Given the description of an element on the screen output the (x, y) to click on. 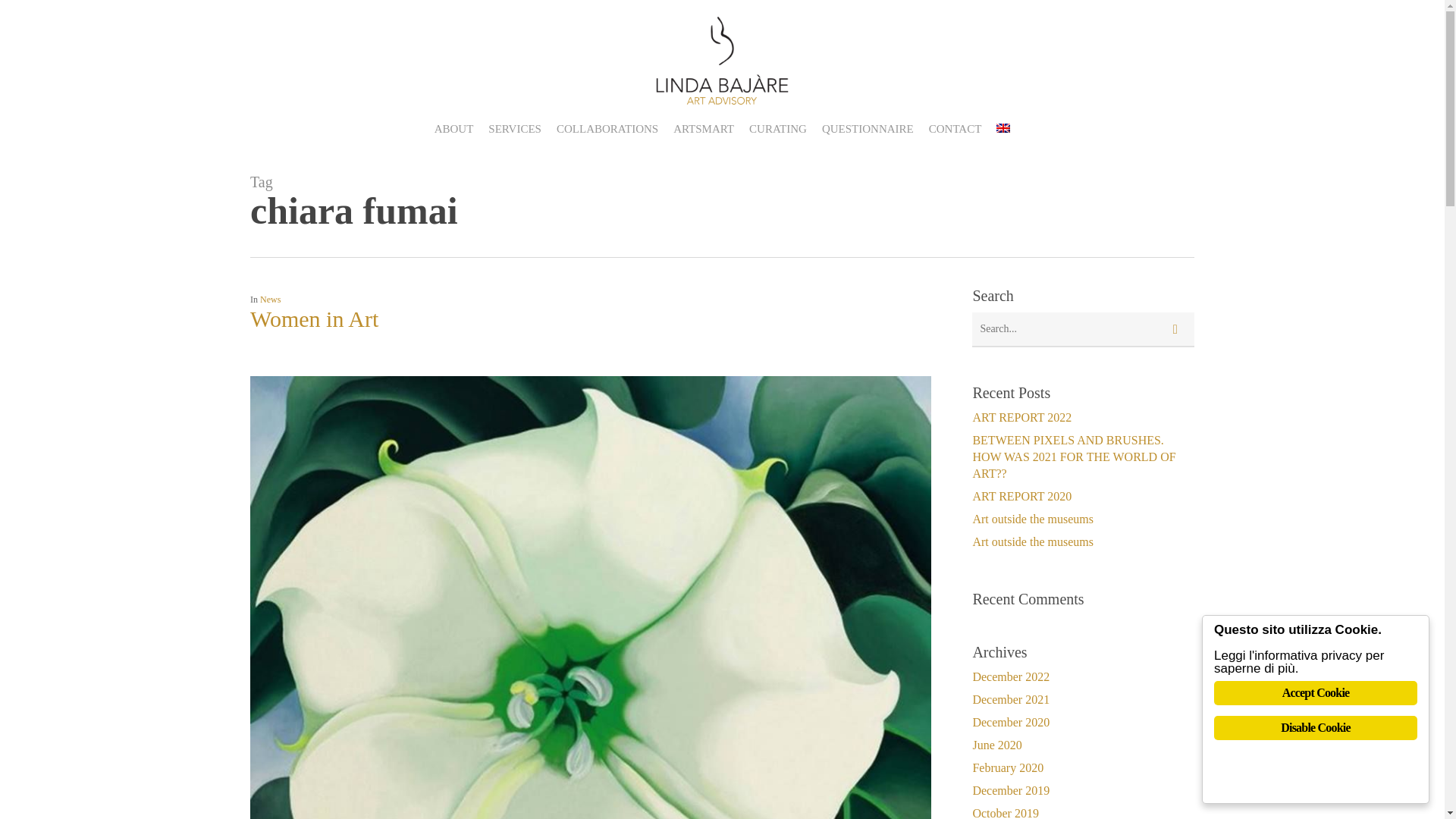
February 2020 (1082, 768)
December 2019 (1082, 790)
QUESTIONNAIRE (867, 129)
CONTACT (955, 129)
December 2022 (1082, 677)
Search for: (1082, 329)
December 2020 (1082, 722)
ABOUT (453, 129)
October 2019 (1082, 812)
SERVICES (514, 129)
ART REPORT 2020 (1082, 496)
Art outside the museums (1082, 541)
Women in Art (314, 318)
ARTSMART (703, 129)
